Given the description of an element on the screen output the (x, y) to click on. 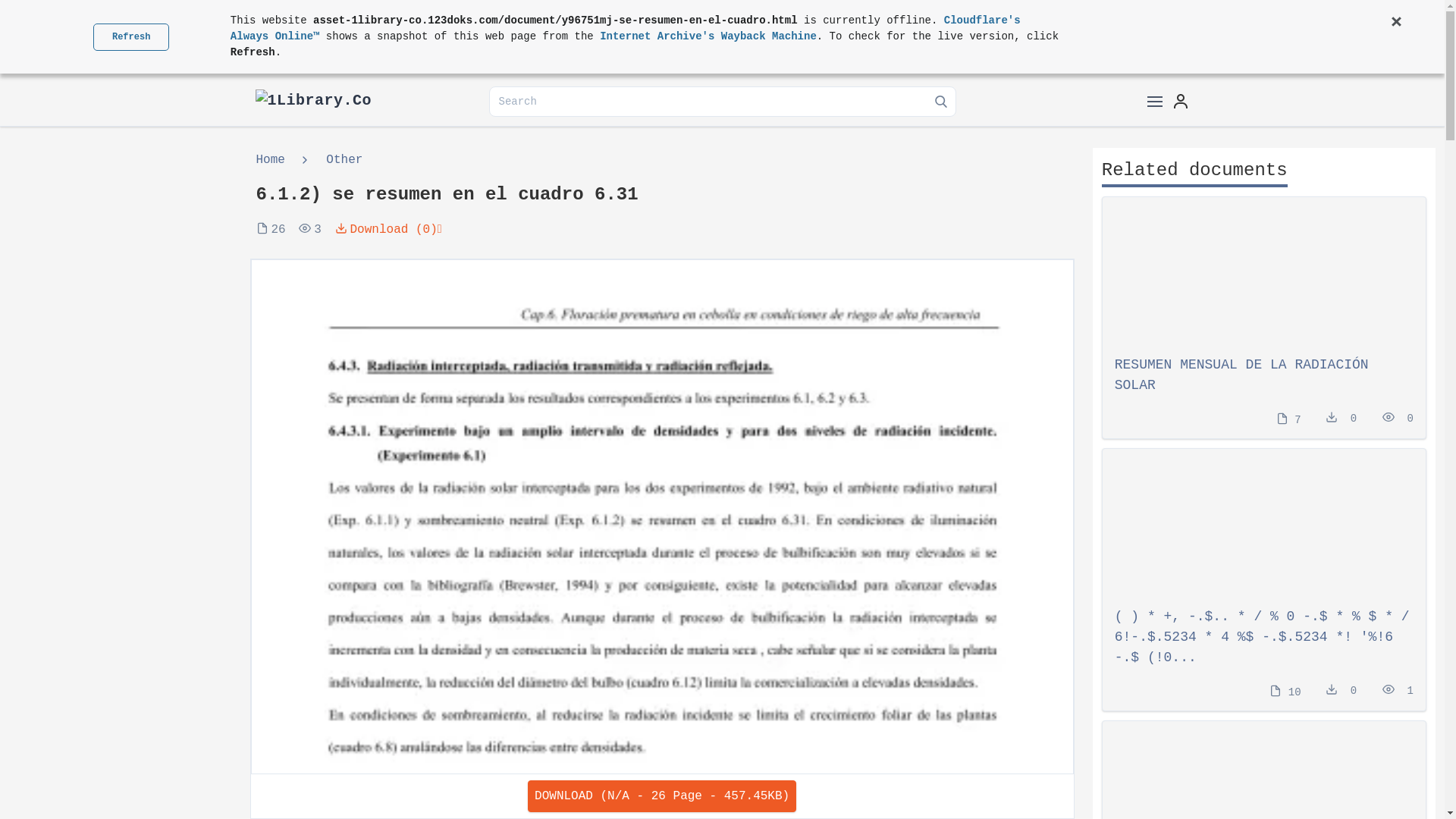
  Other Element type: text (330, 159)
Home Element type: text (274, 159)
Refresh Element type: text (131, 36)
Internet Archive's Wayback Machine Element type: text (707, 36)
Download (0) Element type: text (383, 229)
DOWNLOAD (N/A - 26 Page - 457.45KB) Element type: text (661, 796)
